Given the description of an element on the screen output the (x, y) to click on. 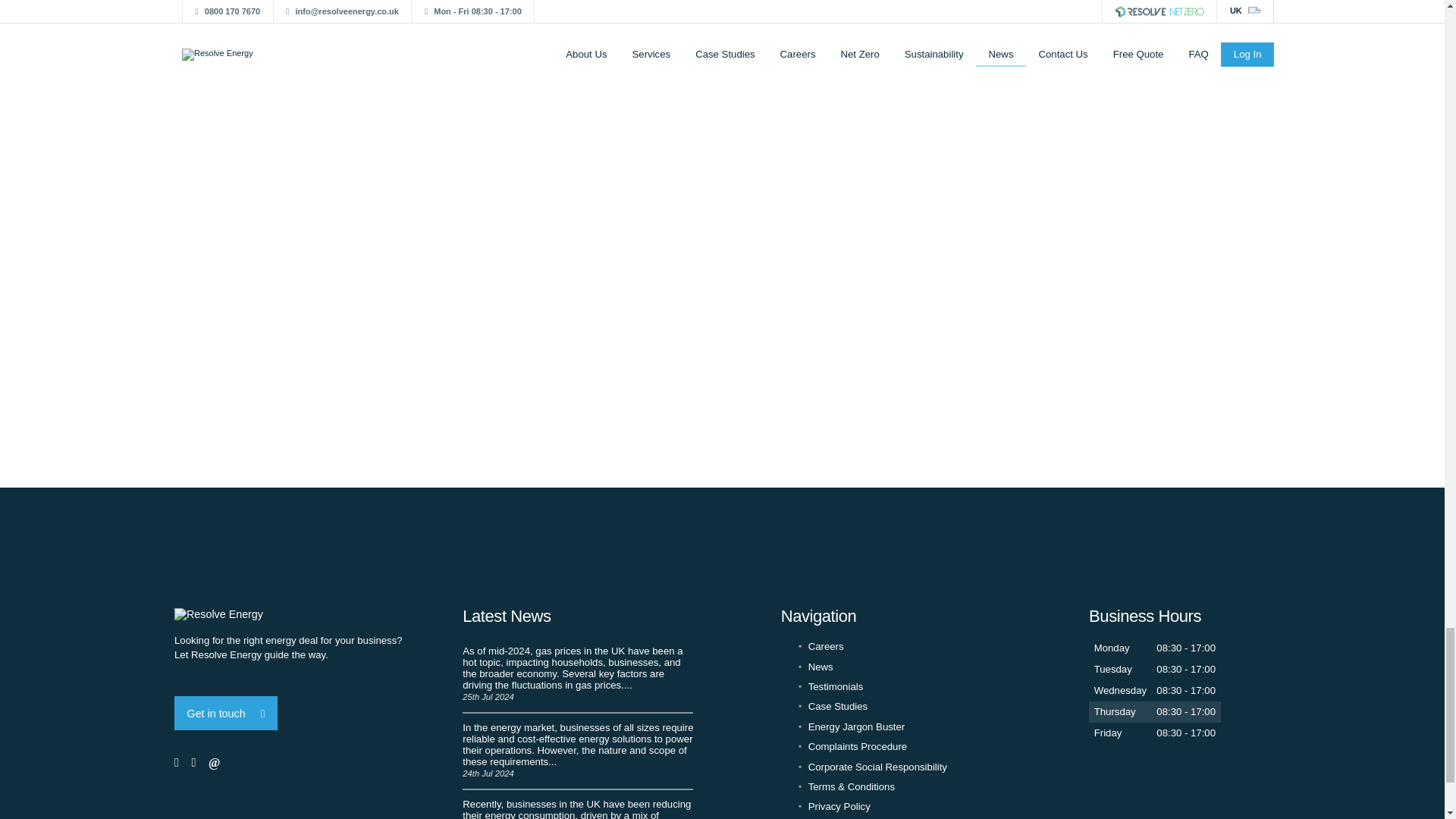
Why are businesses reducing their energy consumption? (578, 804)
What influences gas prices in the UK? (578, 675)
Comparing SME and large business energy bills (578, 751)
Get in touch (226, 713)
